Given the description of an element on the screen output the (x, y) to click on. 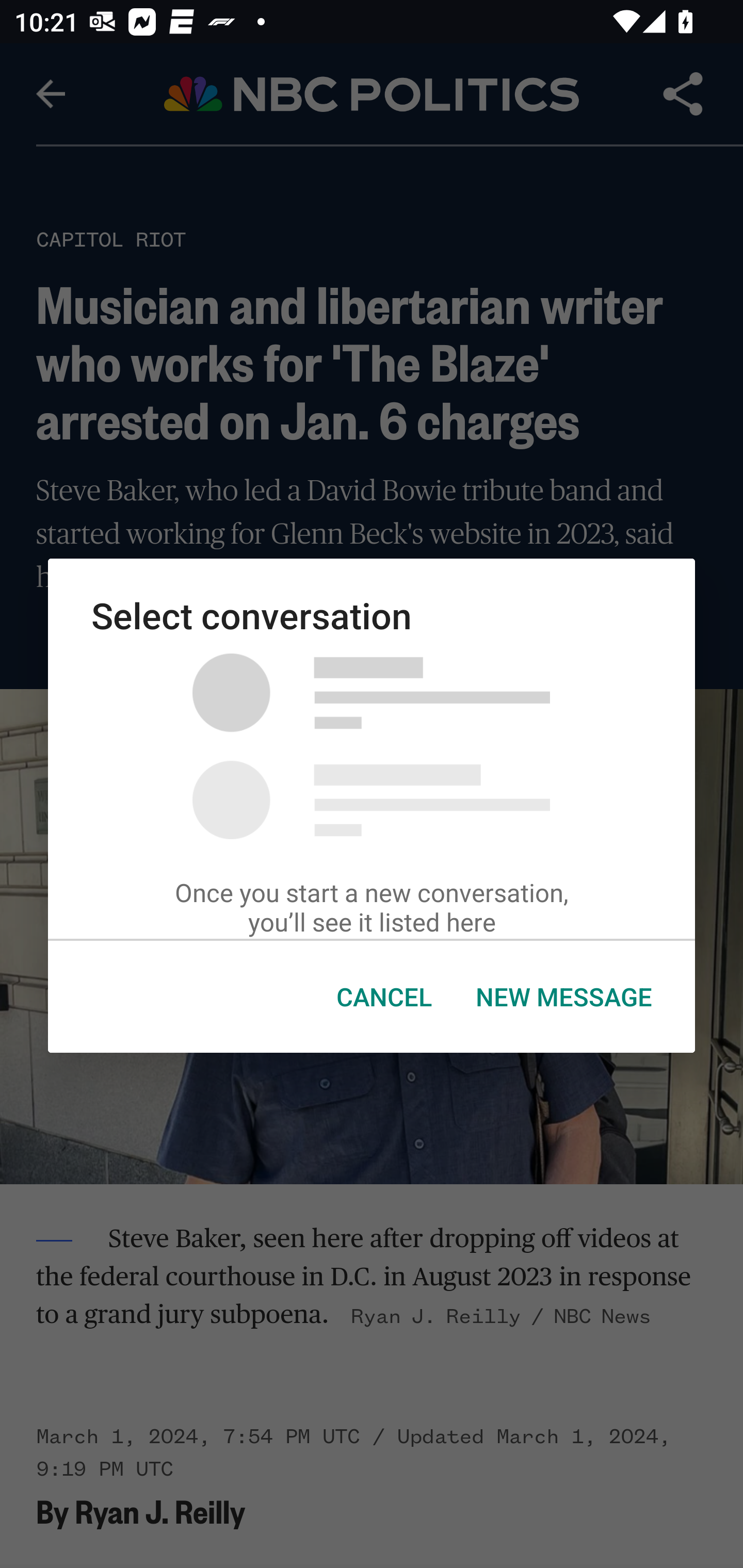
CANCEL (384, 996)
NEW MESSAGE (563, 996)
